Given the description of an element on the screen output the (x, y) to click on. 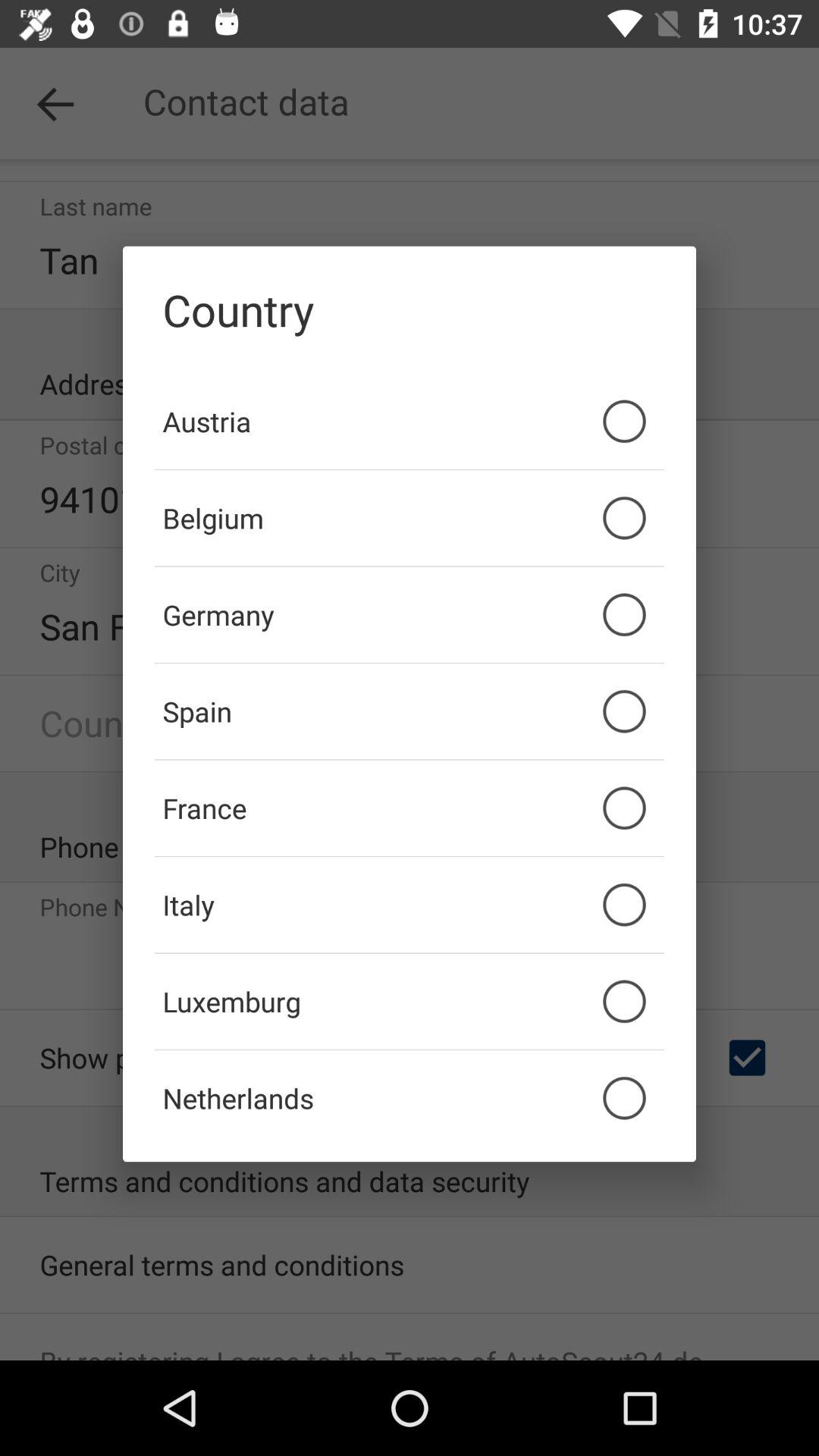
scroll to the austria icon (409, 421)
